Given the description of an element on the screen output the (x, y) to click on. 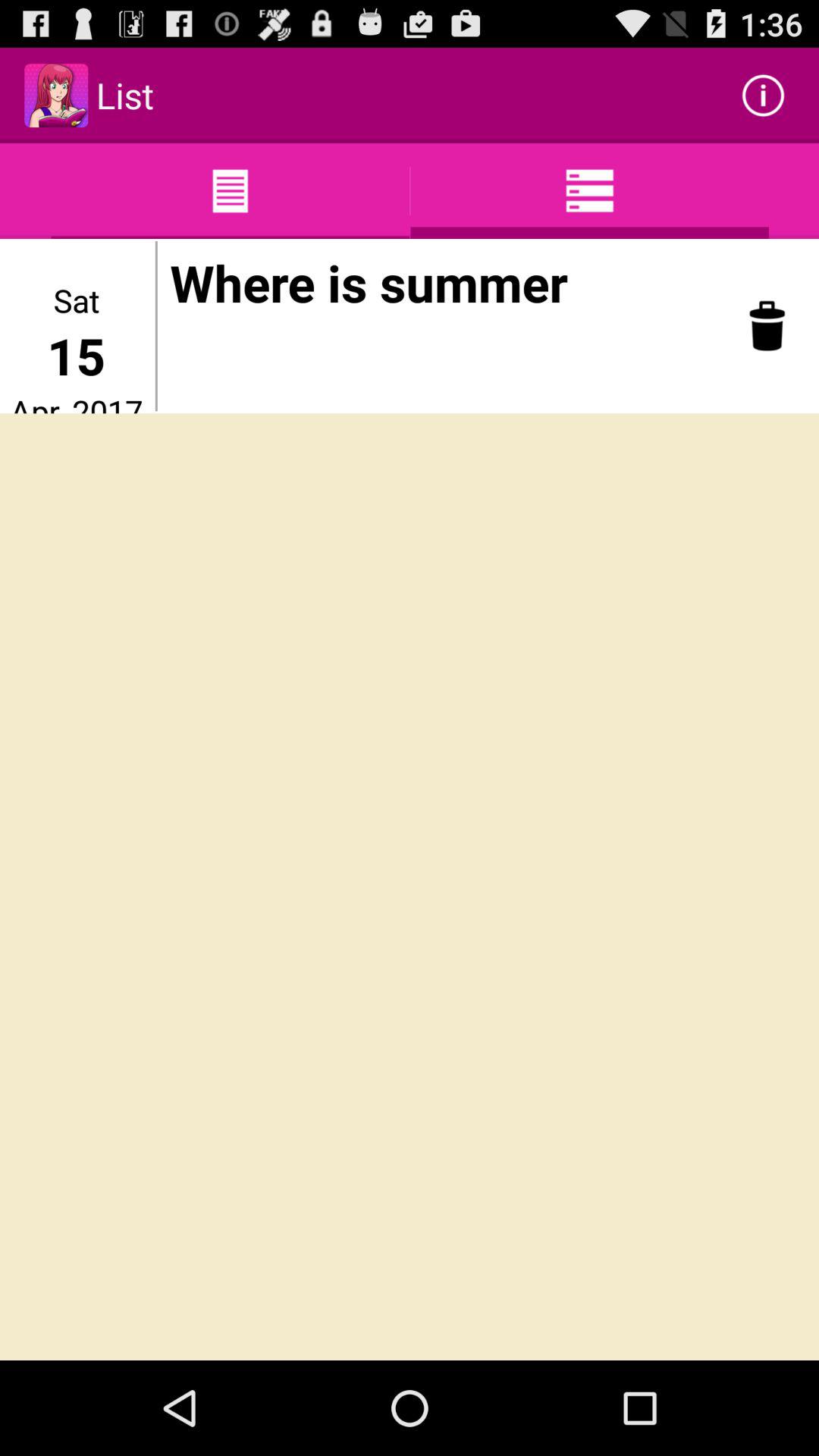
turn off the app next to where is summer icon (767, 325)
